Given the description of an element on the screen output the (x, y) to click on. 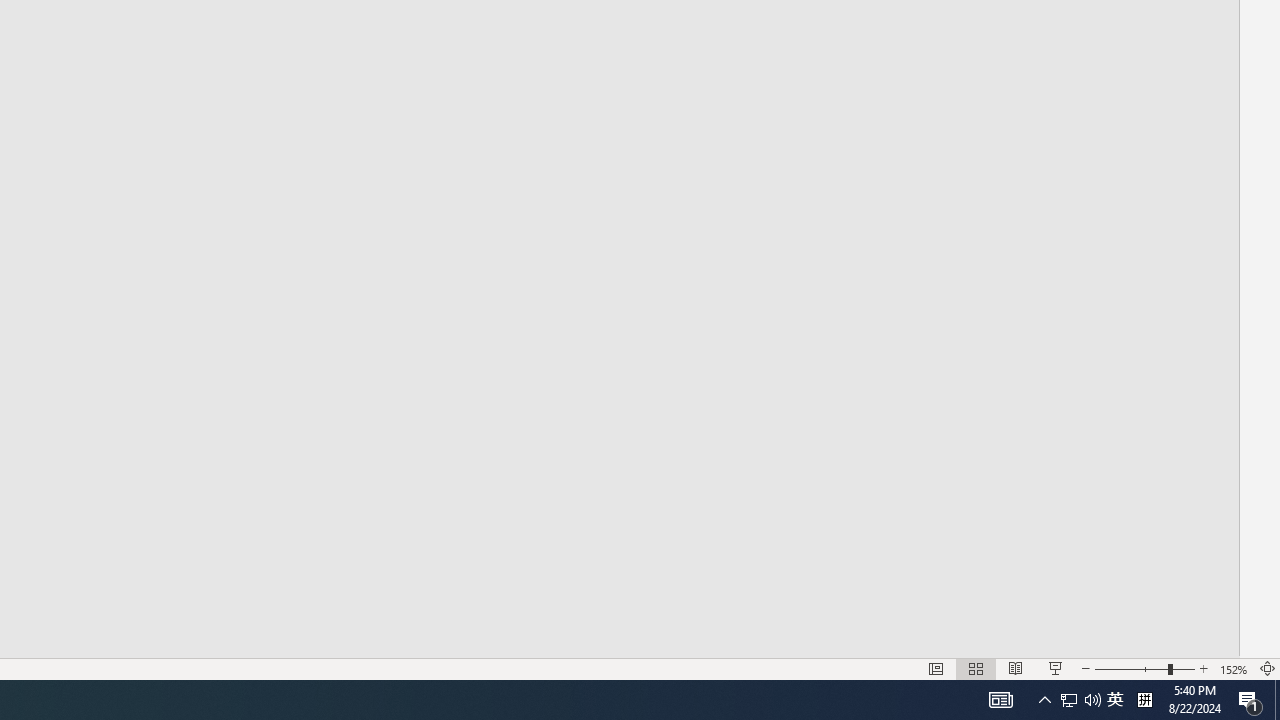
Zoom 152% (1234, 668)
